Given the description of an element on the screen output the (x, y) to click on. 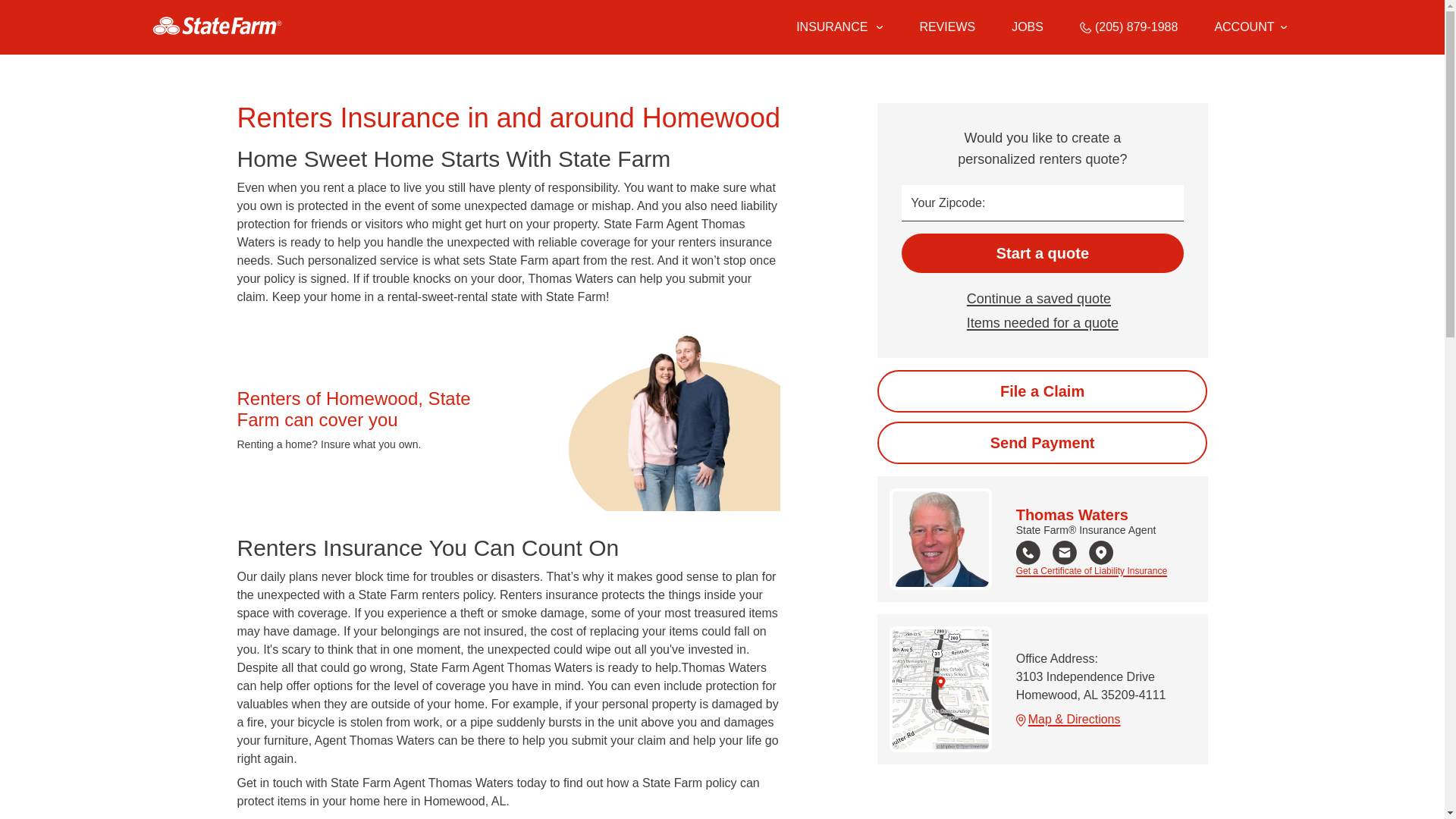
REVIEWS (946, 27)
JOBS (1027, 27)
ACCOUNT (1250, 27)
Insurance (839, 27)
Start the claim process online (1042, 391)
Account Options (1250, 27)
INSURANCE (830, 27)
